Given the description of an element on the screen output the (x, y) to click on. 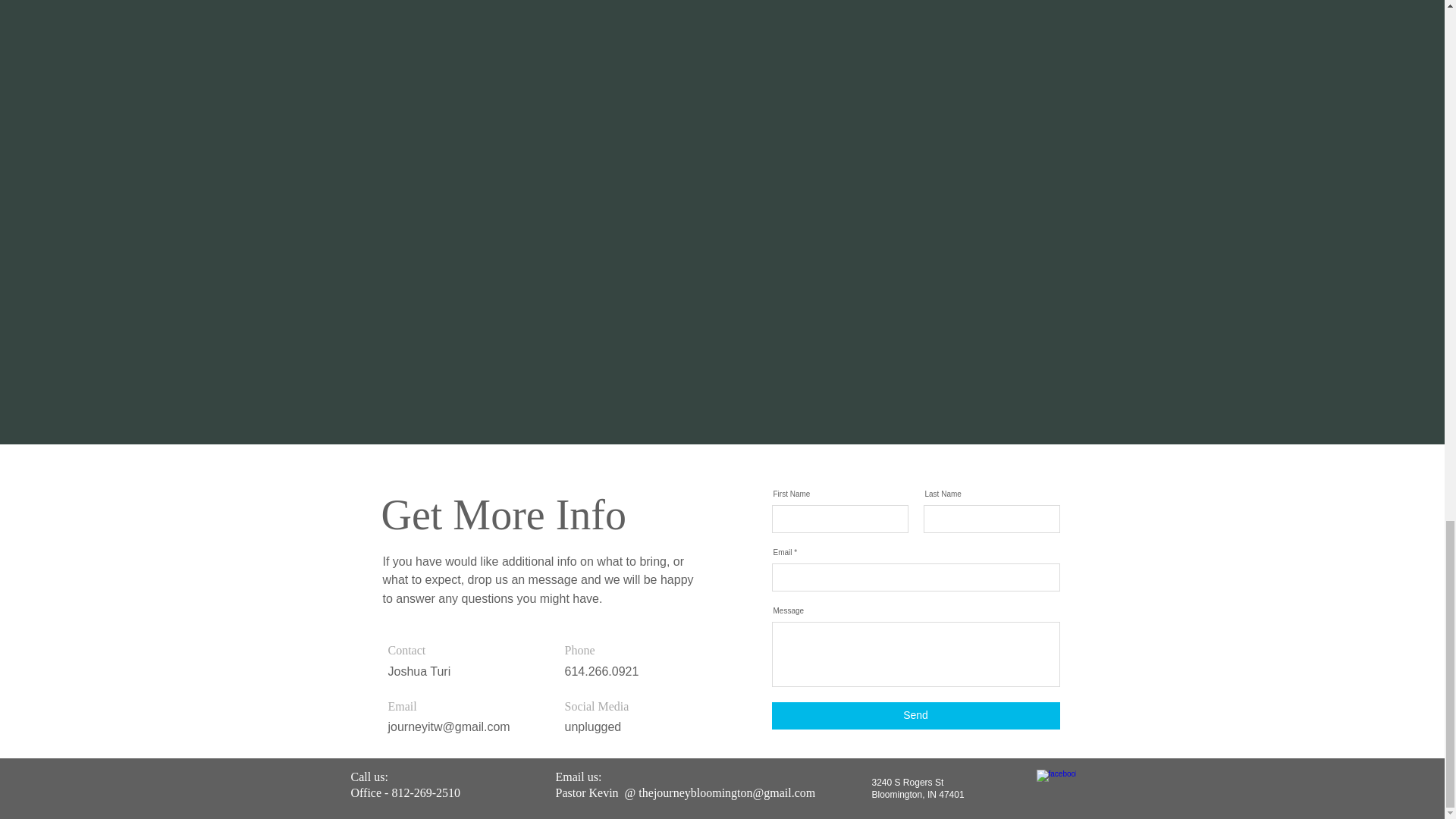
Send (915, 715)
